Given the description of an element on the screen output the (x, y) to click on. 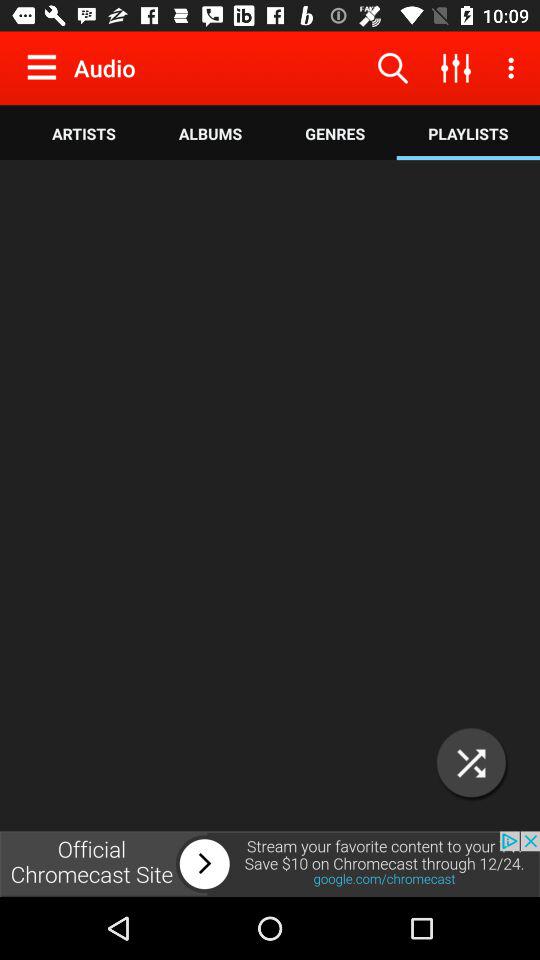
advertisement link image (270, 864)
